Given the description of an element on the screen output the (x, y) to click on. 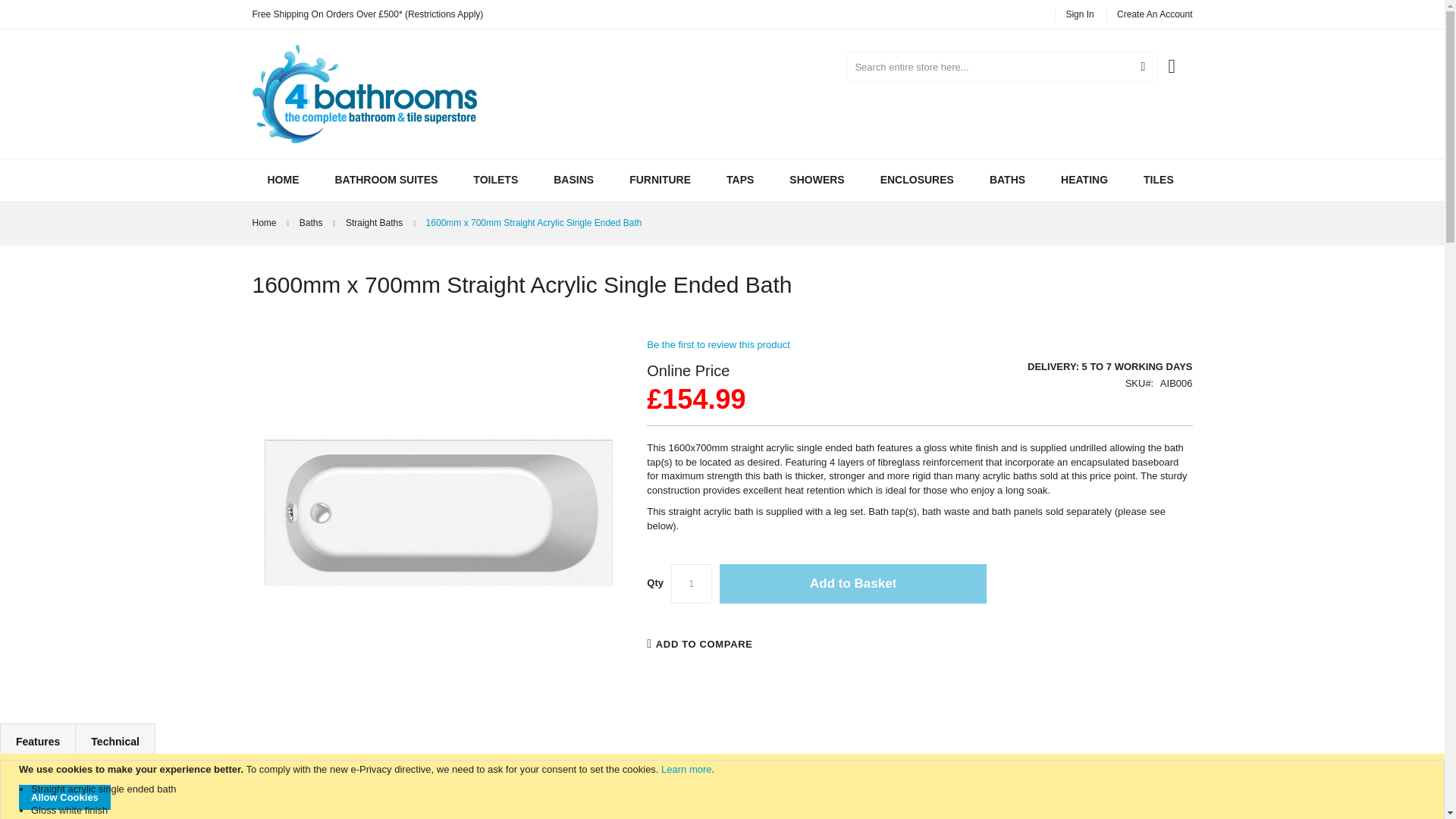
HOME (282, 180)
Create An Account (1154, 14)
Search (1141, 66)
Qty (691, 583)
Add to Basket (853, 583)
BASINS (573, 180)
MY BASKET (1179, 57)
Straight Baths (374, 222)
Availability (1048, 367)
Sign In (1079, 14)
Go to Home Page (263, 222)
Allow Cookies (64, 796)
Baths (311, 222)
Search (1141, 66)
1 (691, 583)
